Given the description of an element on the screen output the (x, y) to click on. 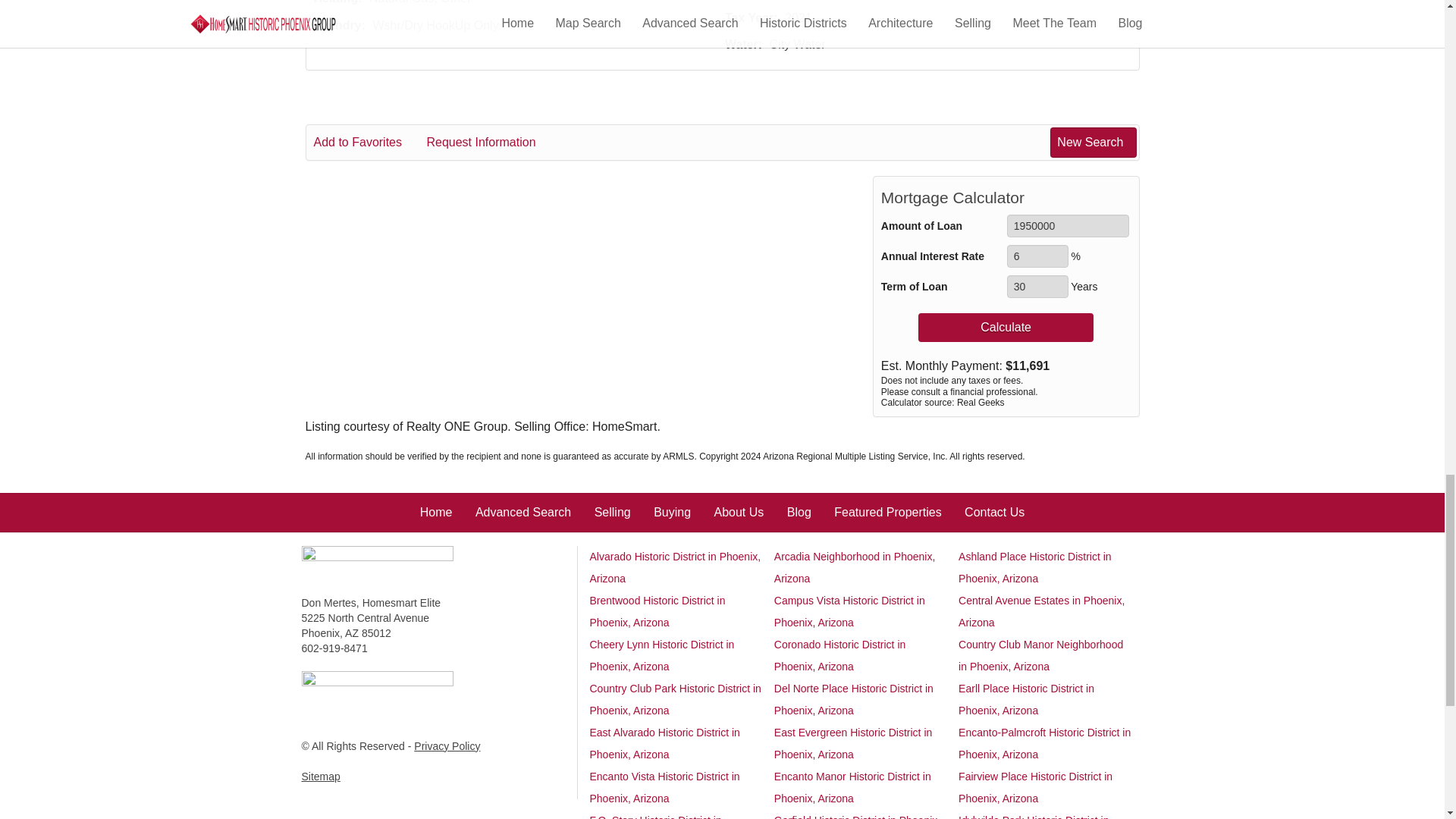
30 (1037, 286)
6 (1037, 255)
1950000 (1068, 225)
